Given the description of an element on the screen output the (x, y) to click on. 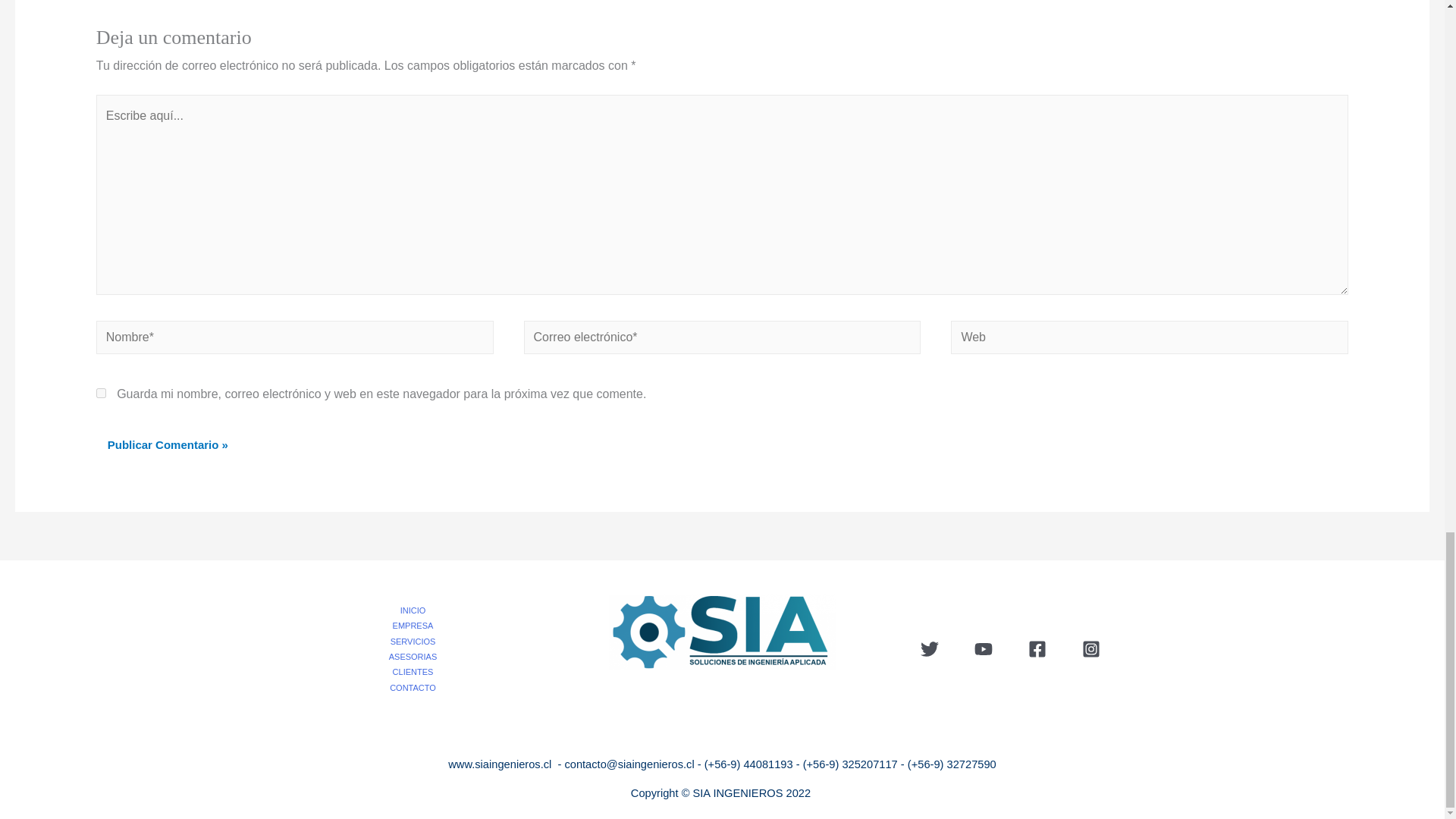
EMPRESA (419, 625)
CLIENTES (419, 671)
INICIO (419, 610)
yes (101, 393)
SERVICIOS (419, 641)
CONTACTO (419, 687)
ASESORIAS (418, 656)
